Given the description of an element on the screen output the (x, y) to click on. 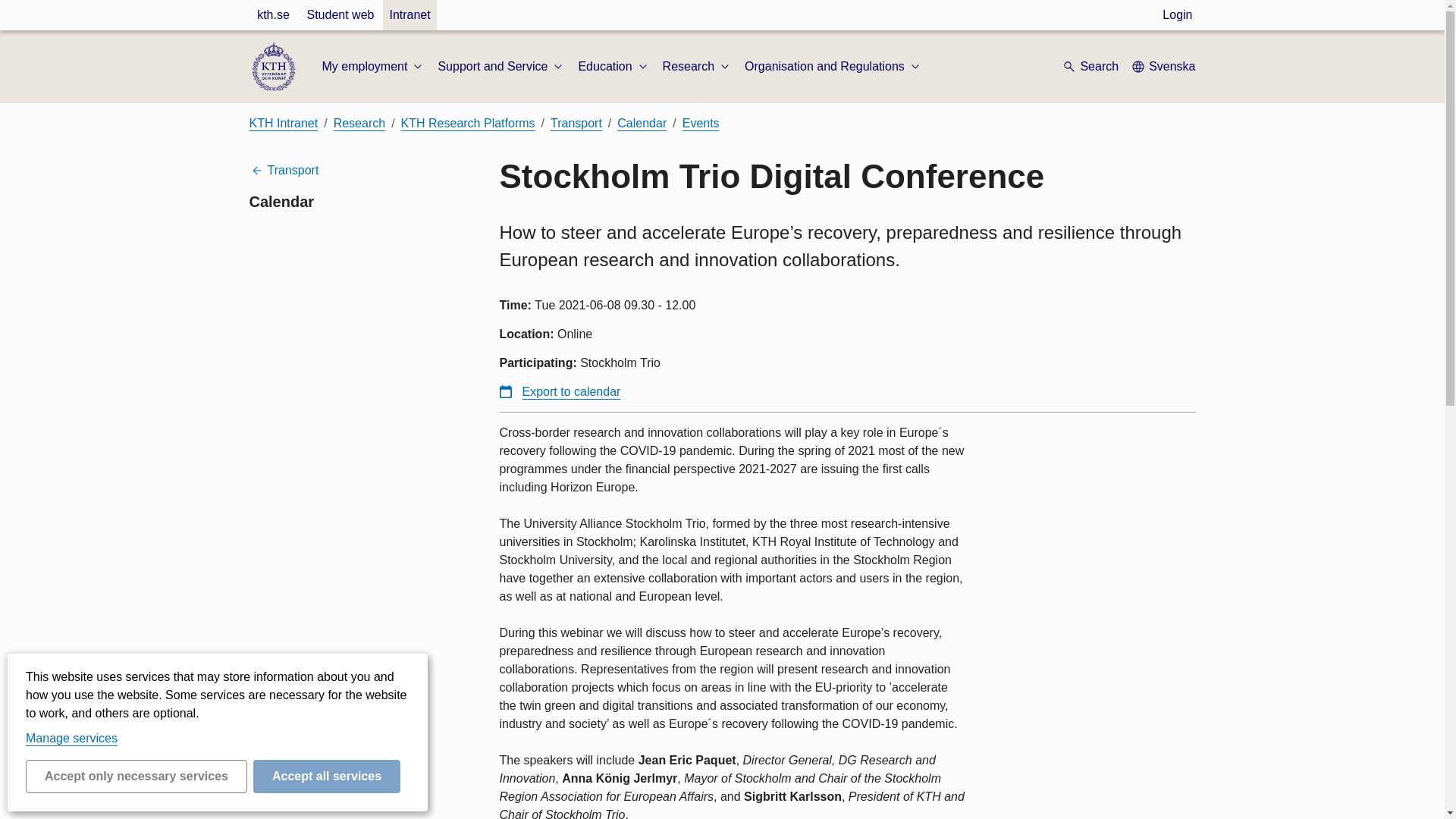
Organisation and Regulations (833, 66)
Research (697, 66)
kth.se (272, 15)
Accept only necessary services (136, 776)
Accept all services (326, 776)
Manage services (71, 738)
Education (613, 66)
Intranet (408, 15)
My employment (373, 66)
Support and Service (502, 66)
